Given the description of an element on the screen output the (x, y) to click on. 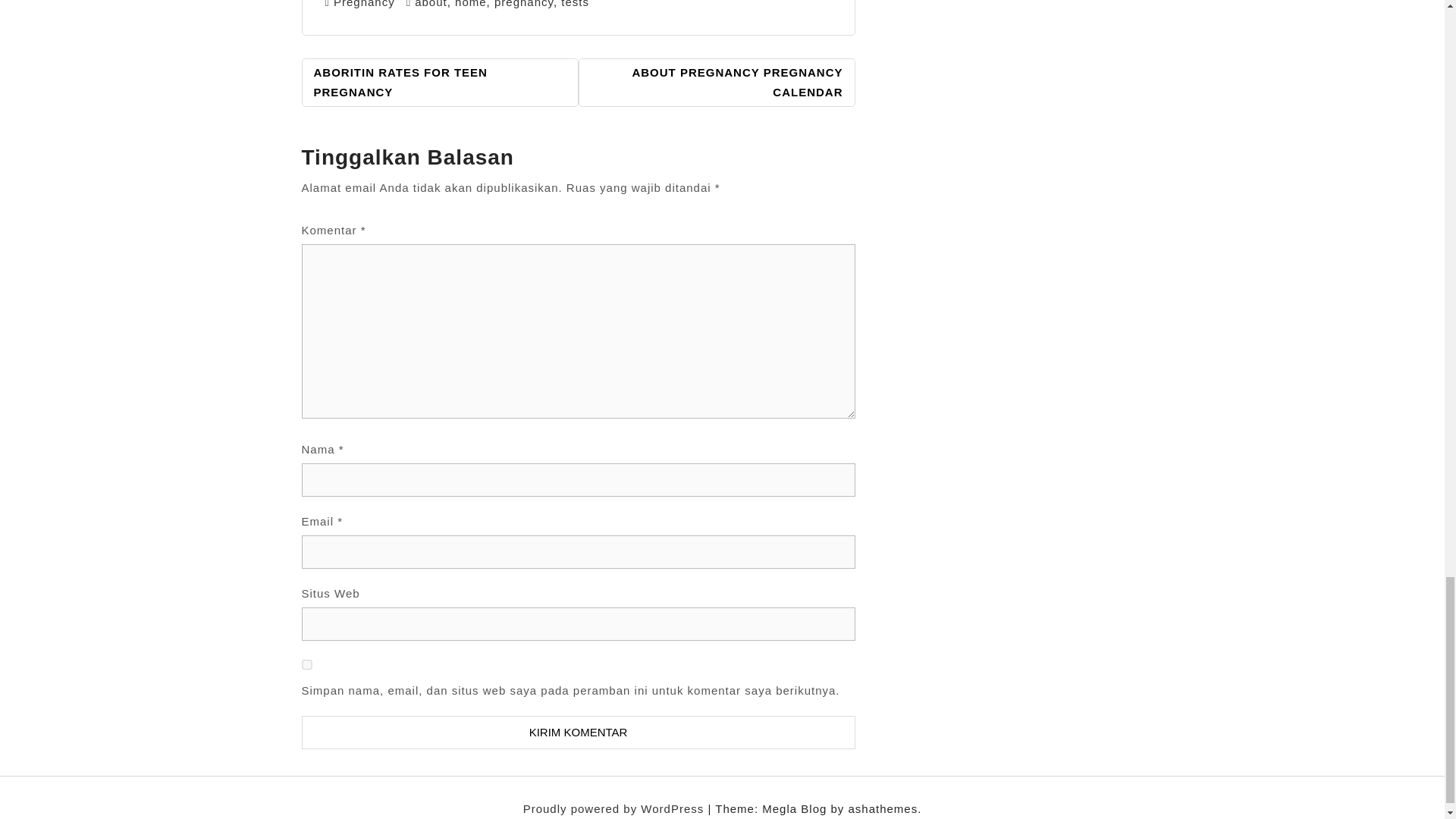
Pregnancy (363, 4)
home (470, 4)
tests (574, 4)
yes (307, 664)
about (430, 4)
Kirim Komentar (578, 732)
ABOUT PREGNANCY PREGNANCY CALENDAR (716, 82)
Proudly powered by WordPress (614, 808)
ABORITIN RATES FOR TEEN PREGNANCY (439, 82)
Kirim Komentar (578, 732)
pregnancy (524, 4)
